Given the description of an element on the screen output the (x, y) to click on. 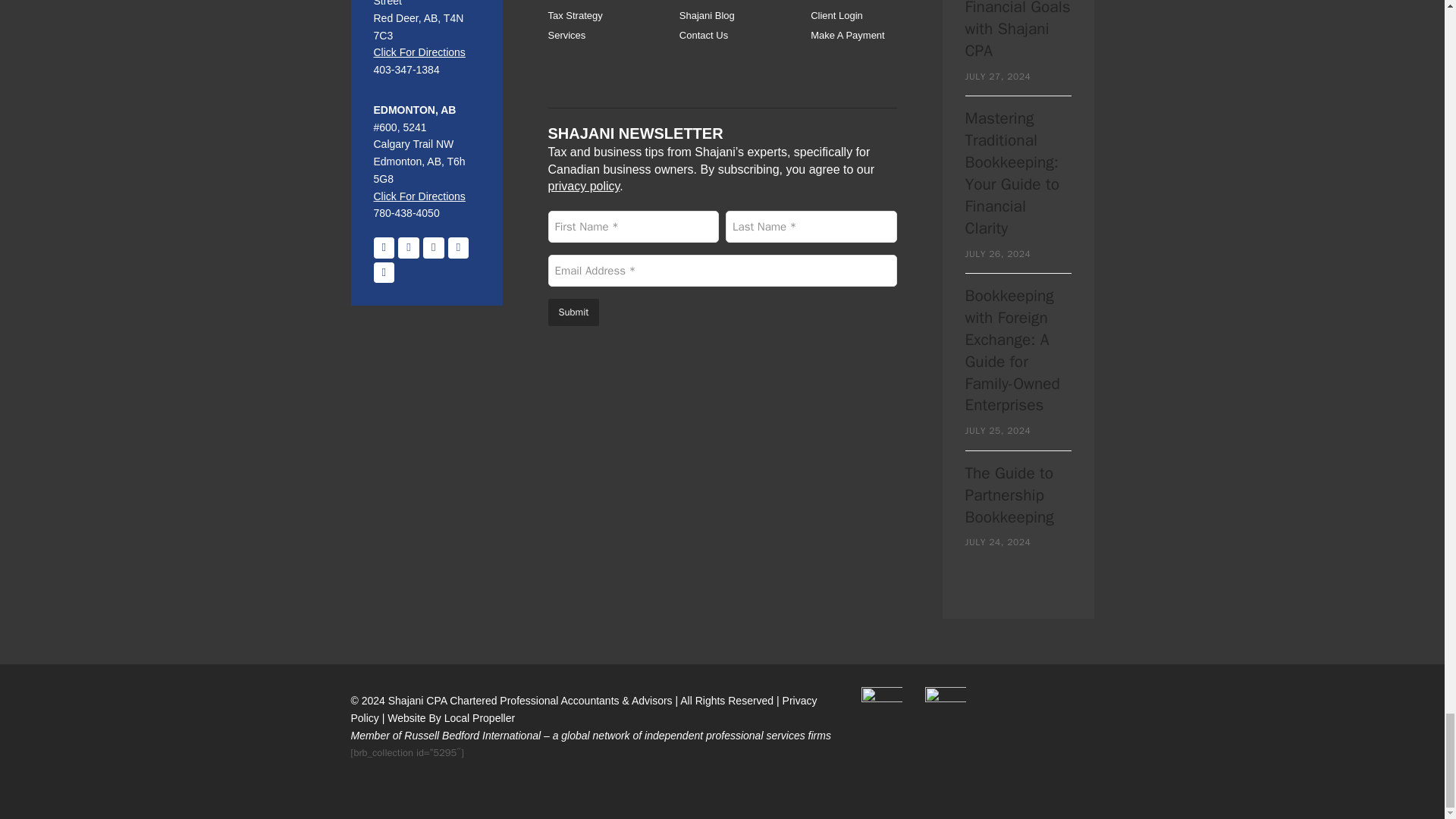
Submit (572, 311)
Facebook (383, 247)
Twitter (433, 247)
Youtube (458, 247)
LinkedIn (408, 247)
